Given the description of an element on the screen output the (x, y) to click on. 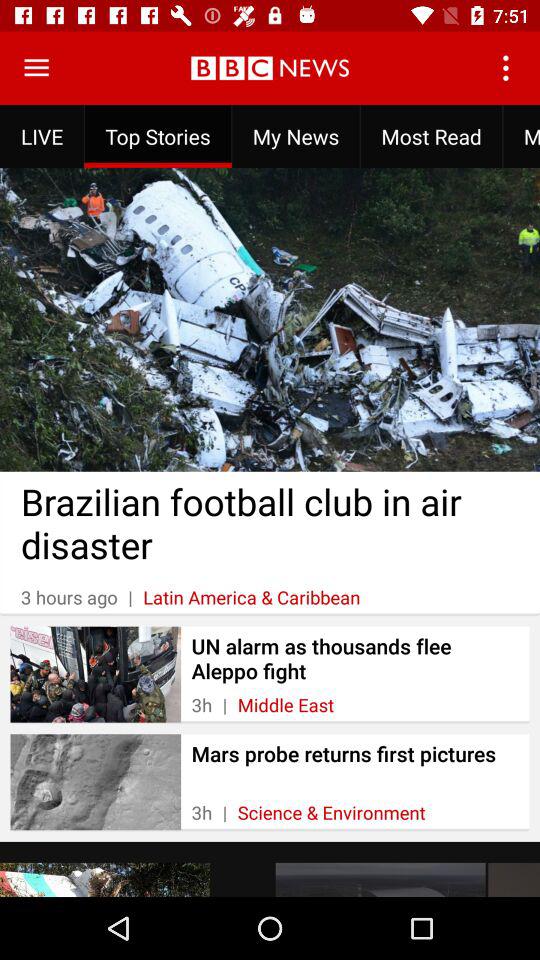
menu bar (36, 68)
